Given the description of an element on the screen output the (x, y) to click on. 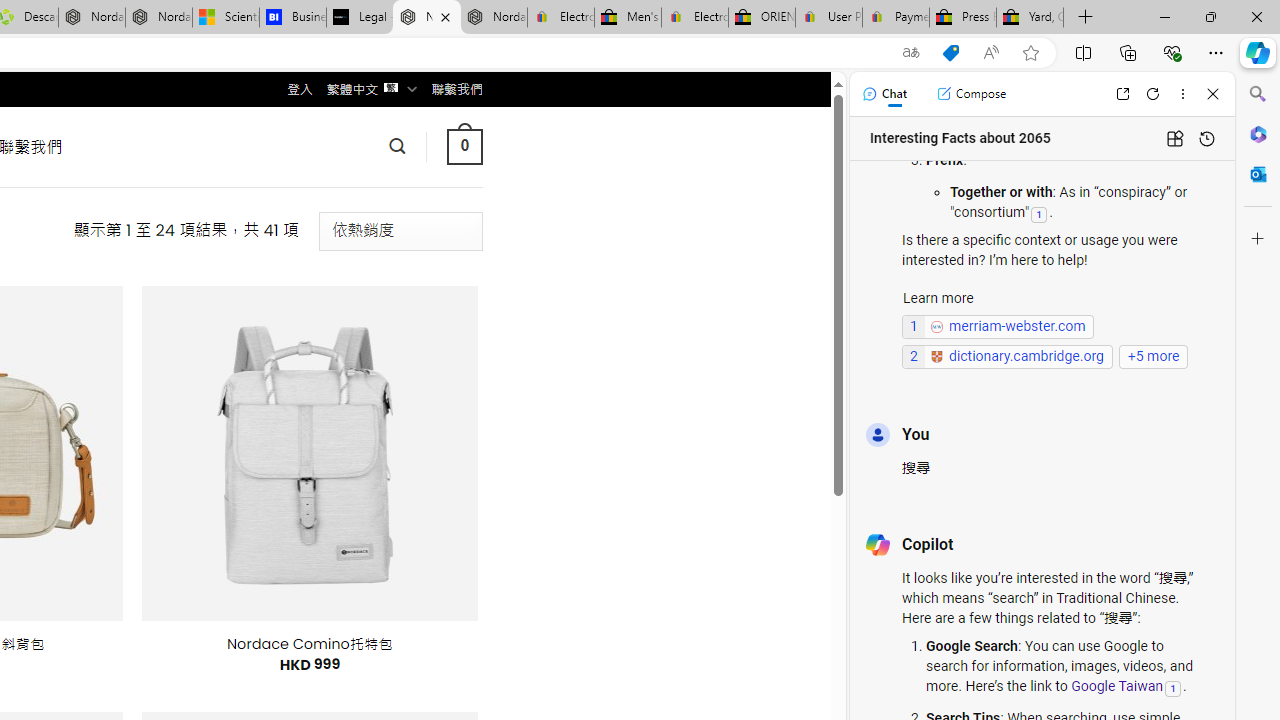
Nordace - Summer Adventures 2024 (91, 17)
Compose (971, 93)
Minimize Search pane (1258, 94)
This site has coupons! Shopping in Microsoft Edge (950, 53)
